Given the description of an element on the screen output the (x, y) to click on. 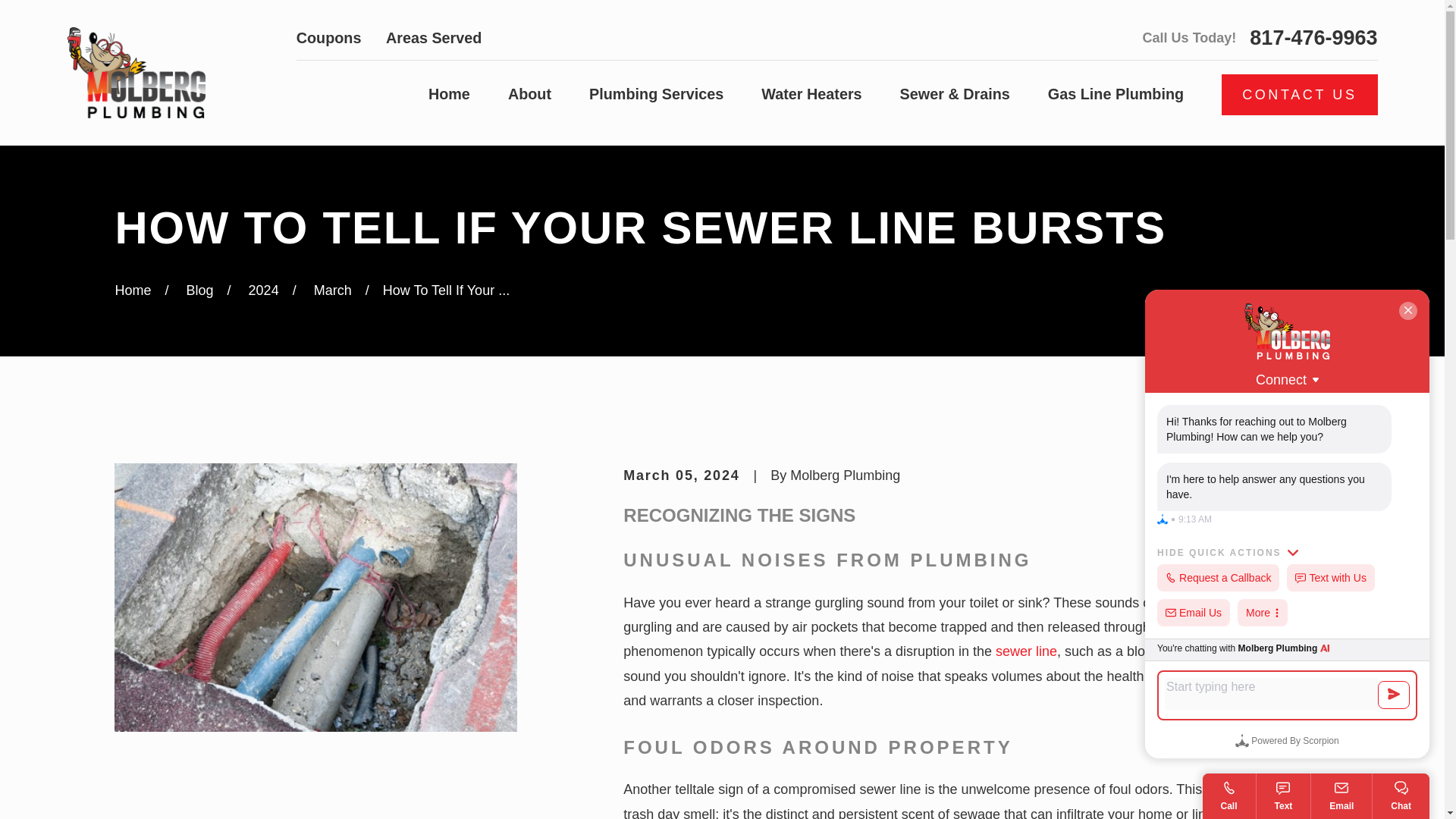
817-476-9963 (1313, 37)
Plumbing Services (656, 94)
Water Heaters (811, 94)
Home (135, 72)
About (529, 94)
Areas Served (433, 37)
Go Home (133, 290)
Molberg Plumbing (135, 72)
Coupons (329, 37)
Home (449, 94)
